Given the description of an element on the screen output the (x, y) to click on. 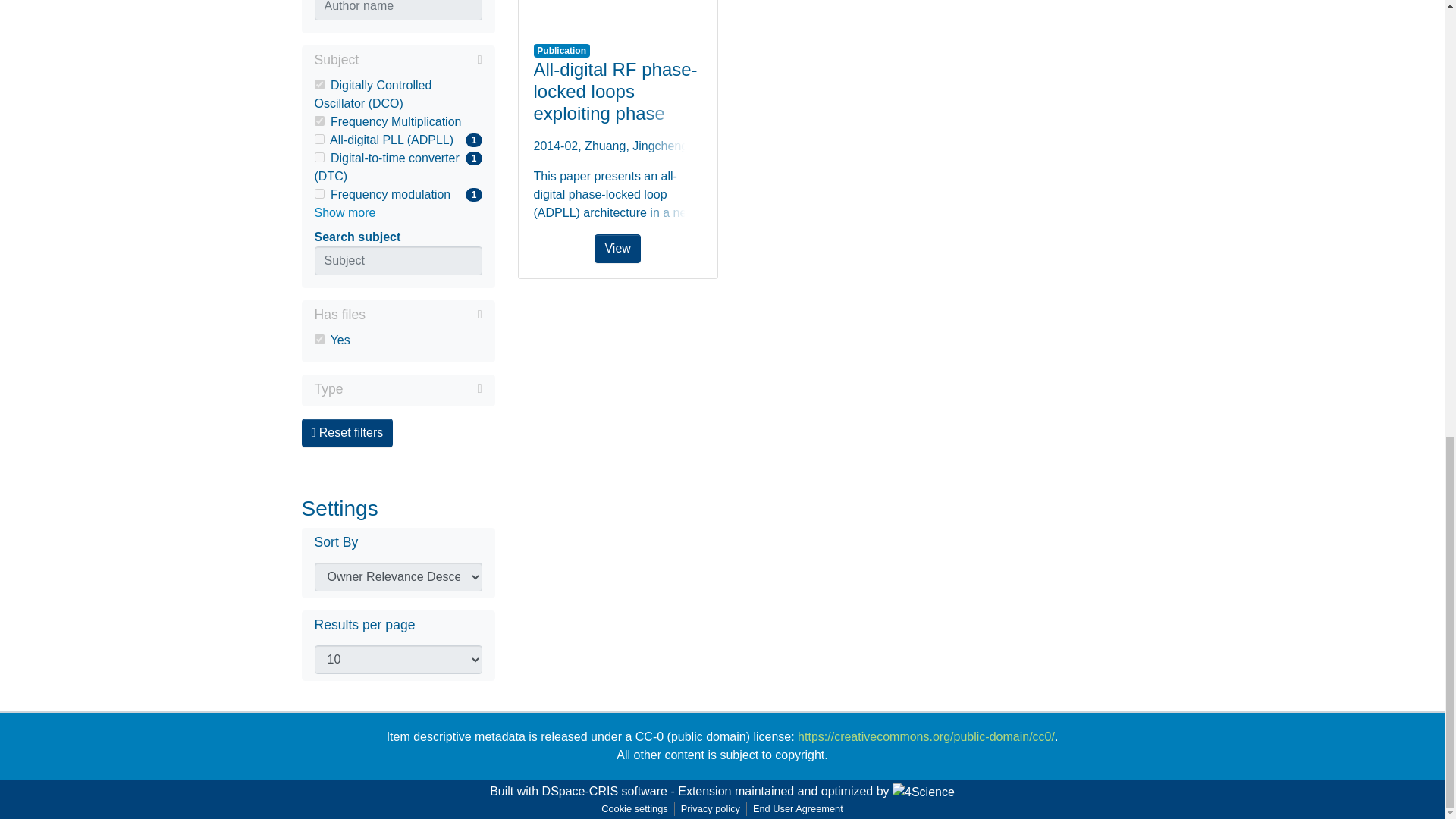
on (318, 139)
Collapse filter (419, 59)
View (617, 12)
on (318, 121)
on (318, 157)
Collapse filter (423, 314)
Frequency Multiplication (397, 194)
on (397, 122)
on (318, 194)
Subject (318, 338)
Expand filter (397, 61)
on (412, 389)
